Given the description of an element on the screen output the (x, y) to click on. 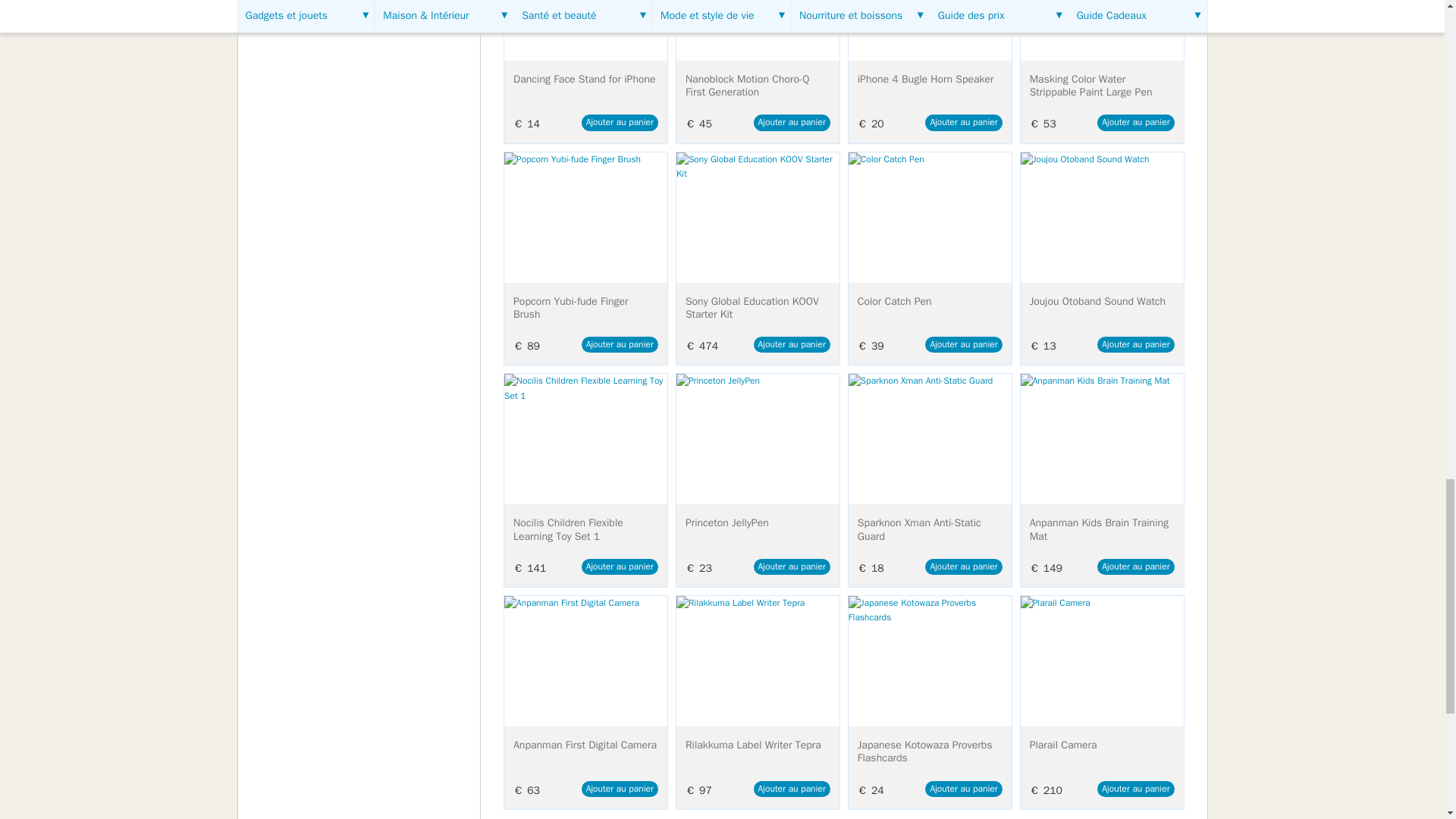
 Nocilis Children Flexible Learning Toy Set 1  (584, 438)
 iPhone 4 Bugle Horn Speaker  (929, 30)
 Masking Color Water Strippable Paint Large Pen  (1101, 30)
 Anpanman Kids Brain Training Mat  (1101, 438)
 Princeton JellyPen  (758, 438)
 Joujou Otoband Sound Watch  (1101, 217)
 Popcorn Yubi-fude Finger Brush  (584, 217)
 Rilakkuma Label Writer Tepra  (758, 661)
 Sony Global Education KOOV Starter Kit  (758, 217)
 Color Catch Pen  (929, 217)
